Given the description of an element on the screen output the (x, y) to click on. 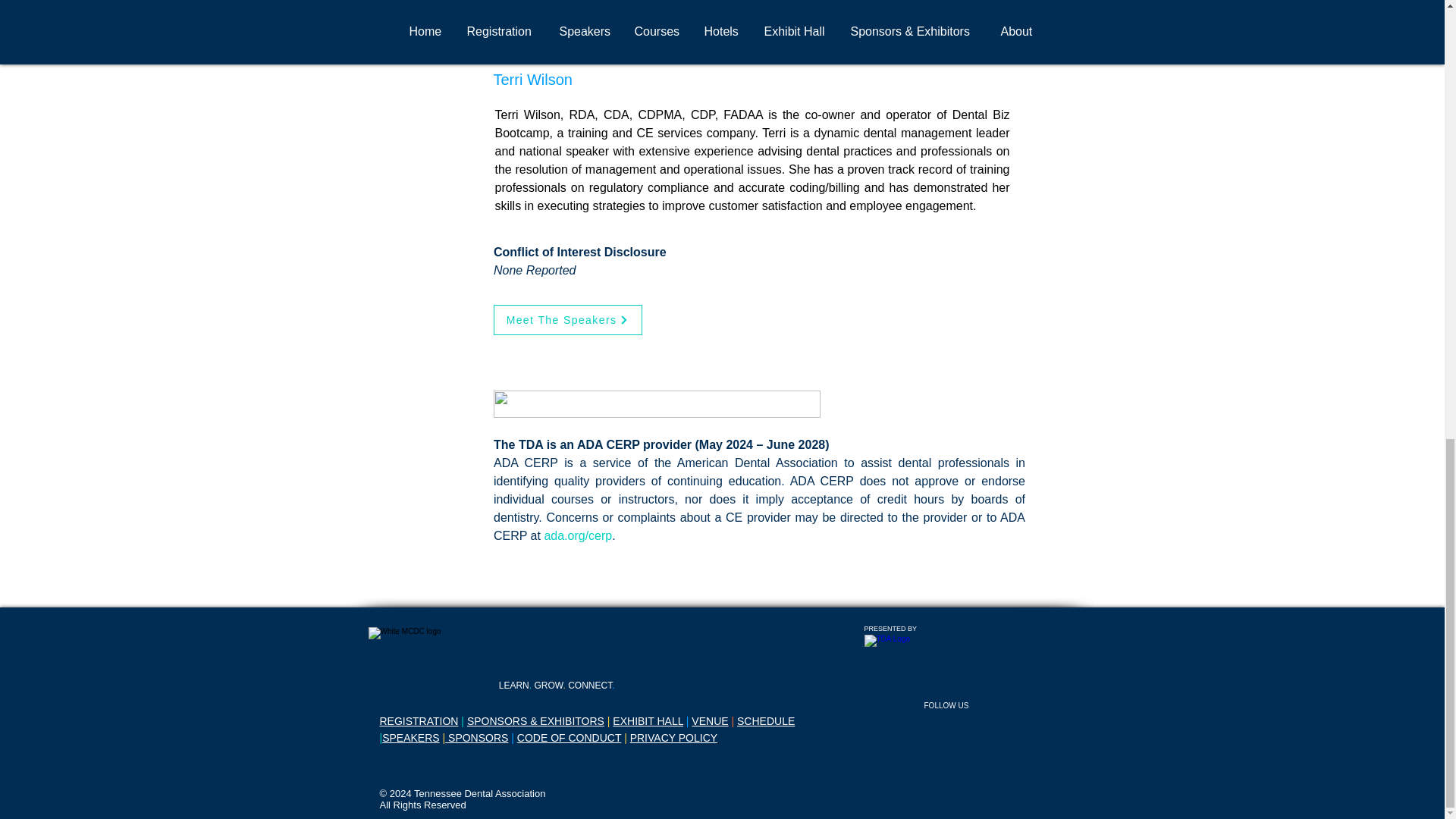
VENUE (709, 720)
SPEAKERS (410, 737)
REGISTRATION (418, 720)
CODE OF CONDUCT (568, 737)
PRIVACY POLICY (673, 737)
SPONSORS (476, 737)
Meet The Speakers (567, 319)
SCHEDULE (765, 720)
